Given the description of an element on the screen output the (x, y) to click on. 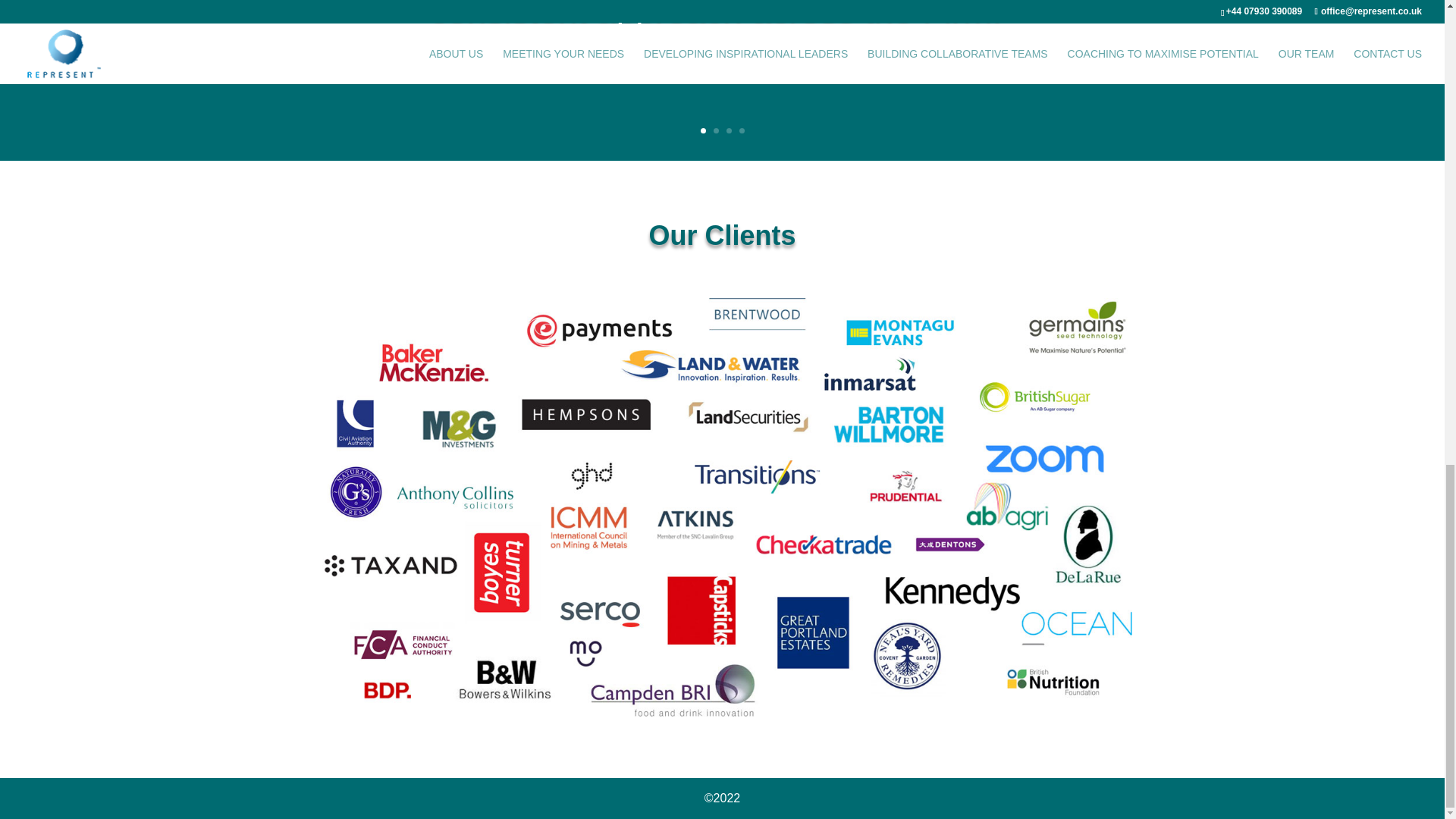
3 (729, 130)
4 (741, 130)
1 (703, 130)
